Given the description of an element on the screen output the (x, y) to click on. 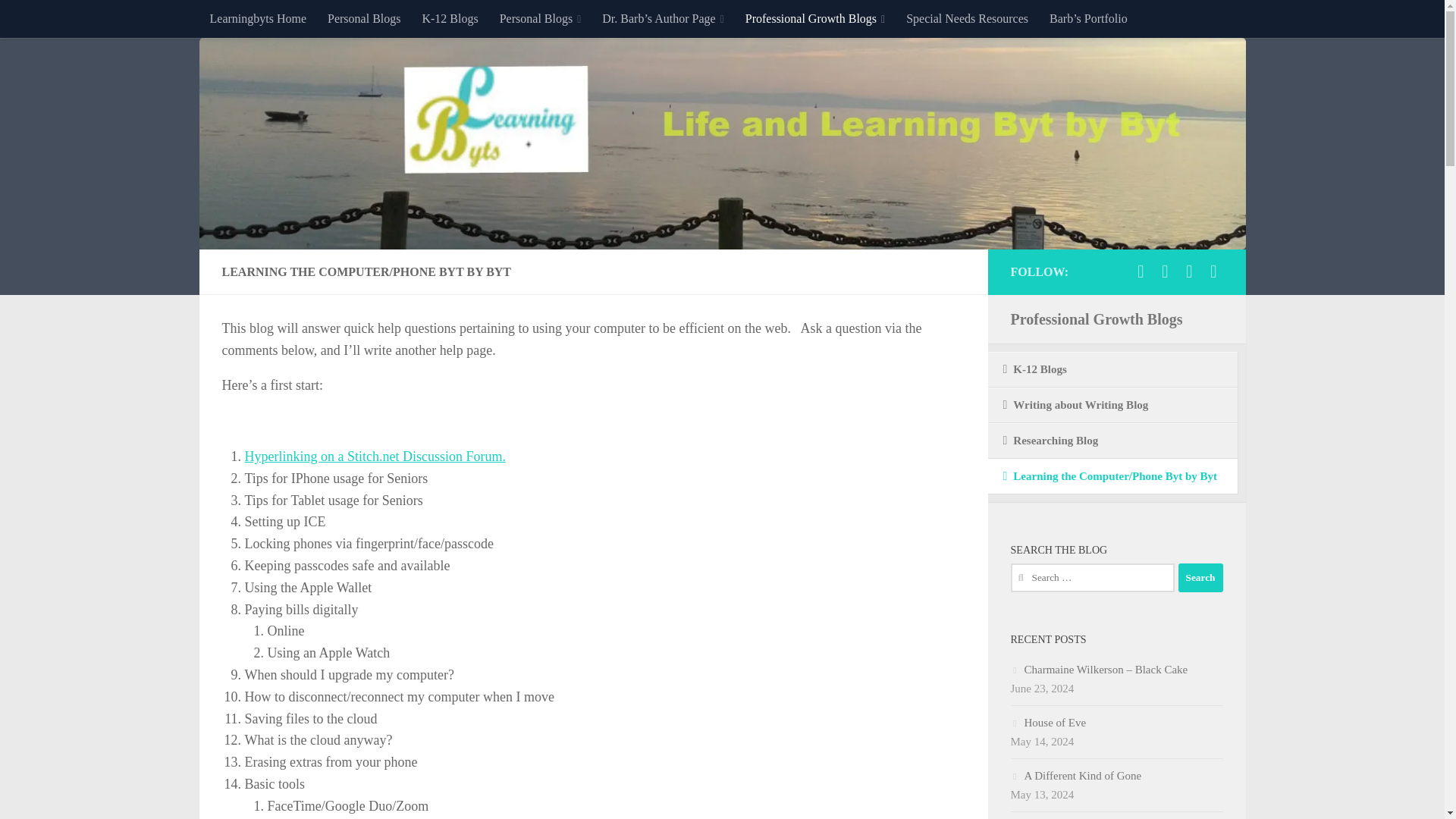
Search (1200, 577)
Skip to content (59, 20)
Learningbyts Home (257, 18)
Search (1200, 577)
Personal Blogs (540, 18)
K-12 Blogs (448, 18)
Personal Blogs (363, 18)
